Given the description of an element on the screen output the (x, y) to click on. 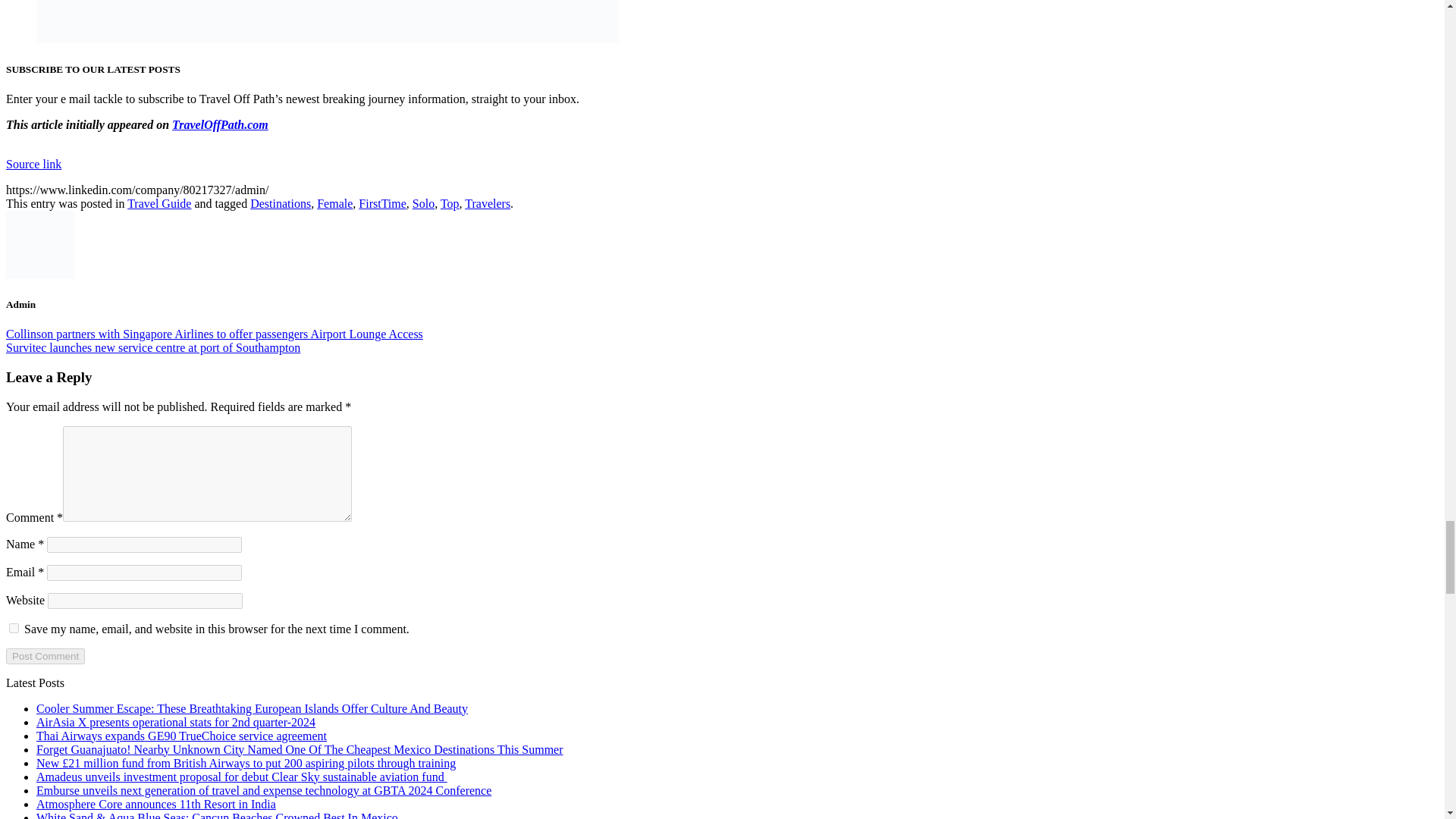
Atmosphere Core announces 11th Resort in India (156, 803)
Female (334, 203)
Post Comment (44, 656)
Travel Guide (159, 203)
yes (13, 628)
AirAsia X presents operational stats for 2nd quarter-2024 (175, 721)
Destinations (280, 203)
Thai Airways expands GE90 TrueChoice service agreement (181, 735)
Source link (33, 164)
TravelOffPath.com (219, 124)
FirstTime (382, 203)
